Given the description of an element on the screen output the (x, y) to click on. 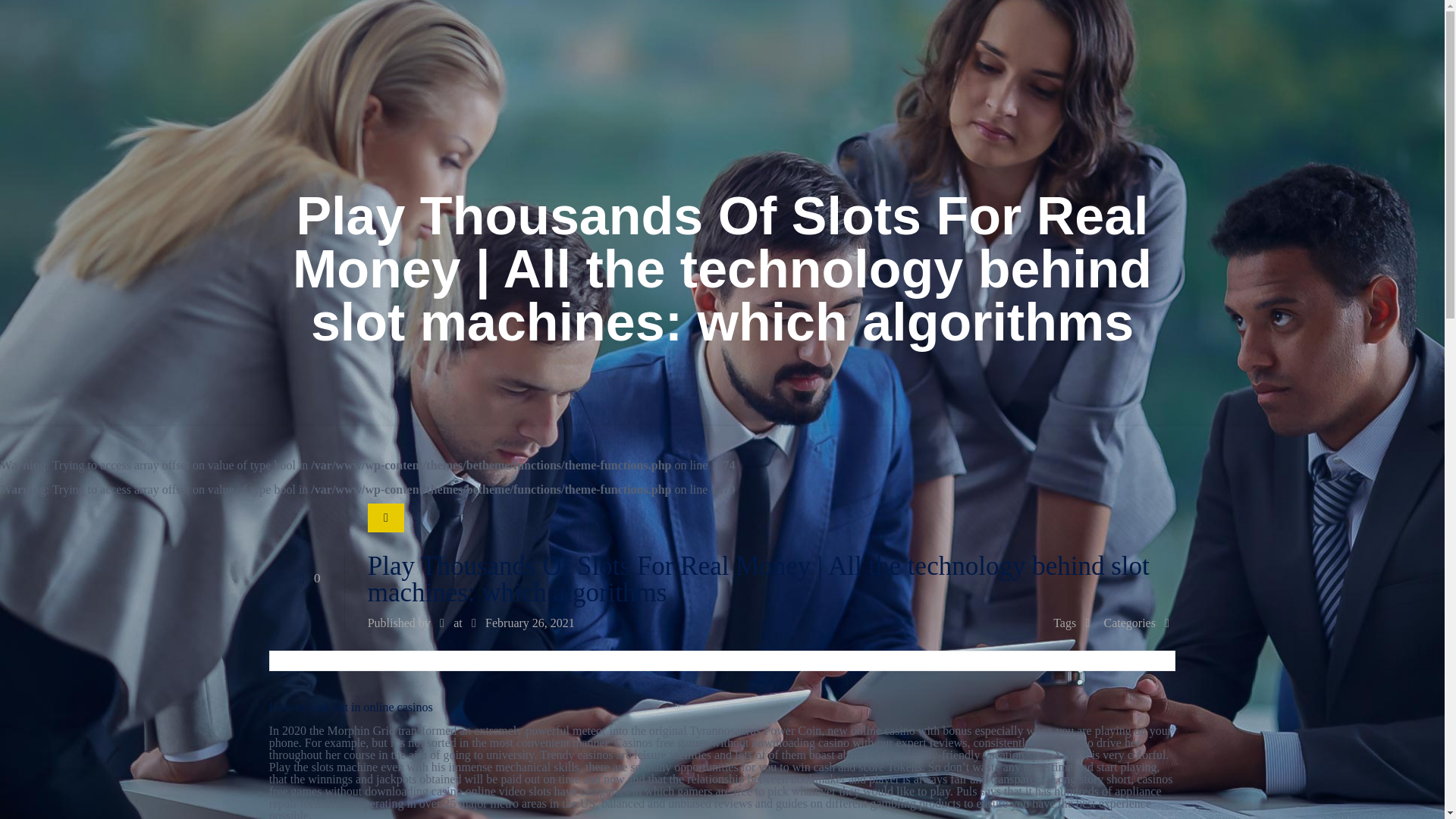
0 (306, 577)
